Given the description of an element on the screen output the (x, y) to click on. 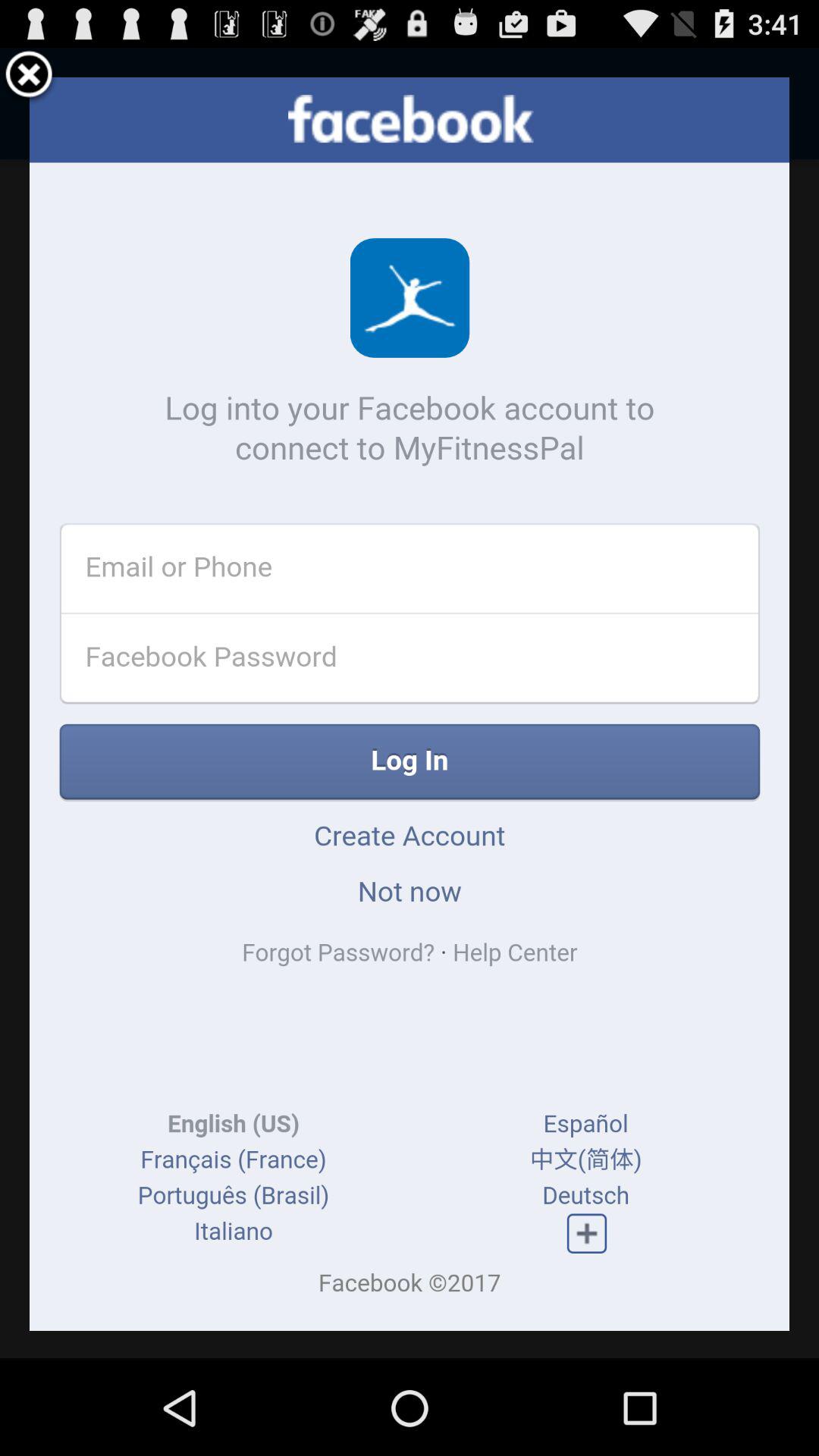
exit advertisement (29, 76)
